Given the description of an element on the screen output the (x, y) to click on. 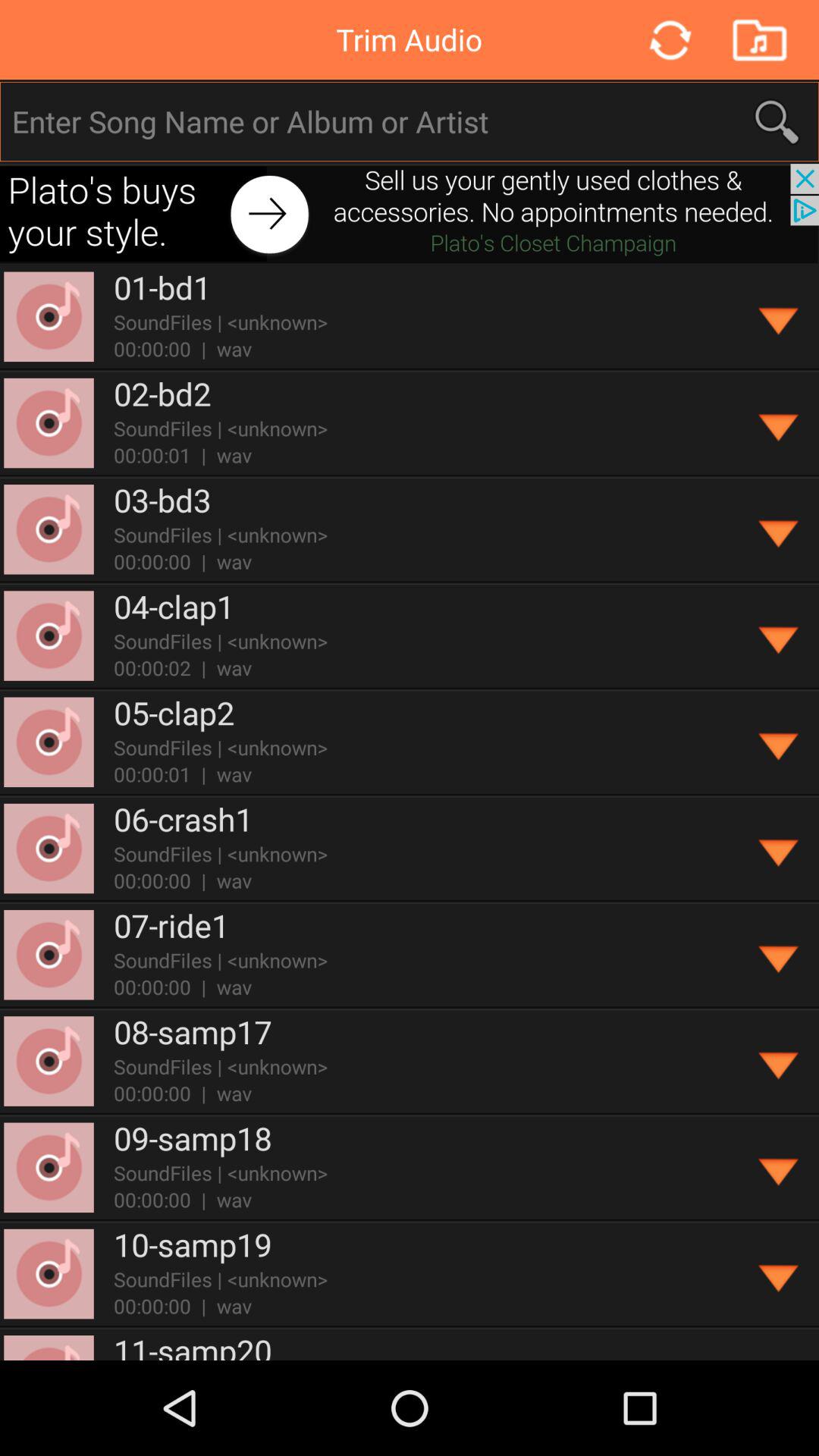
menu (779, 529)
